Given the description of an element on the screen output the (x, y) to click on. 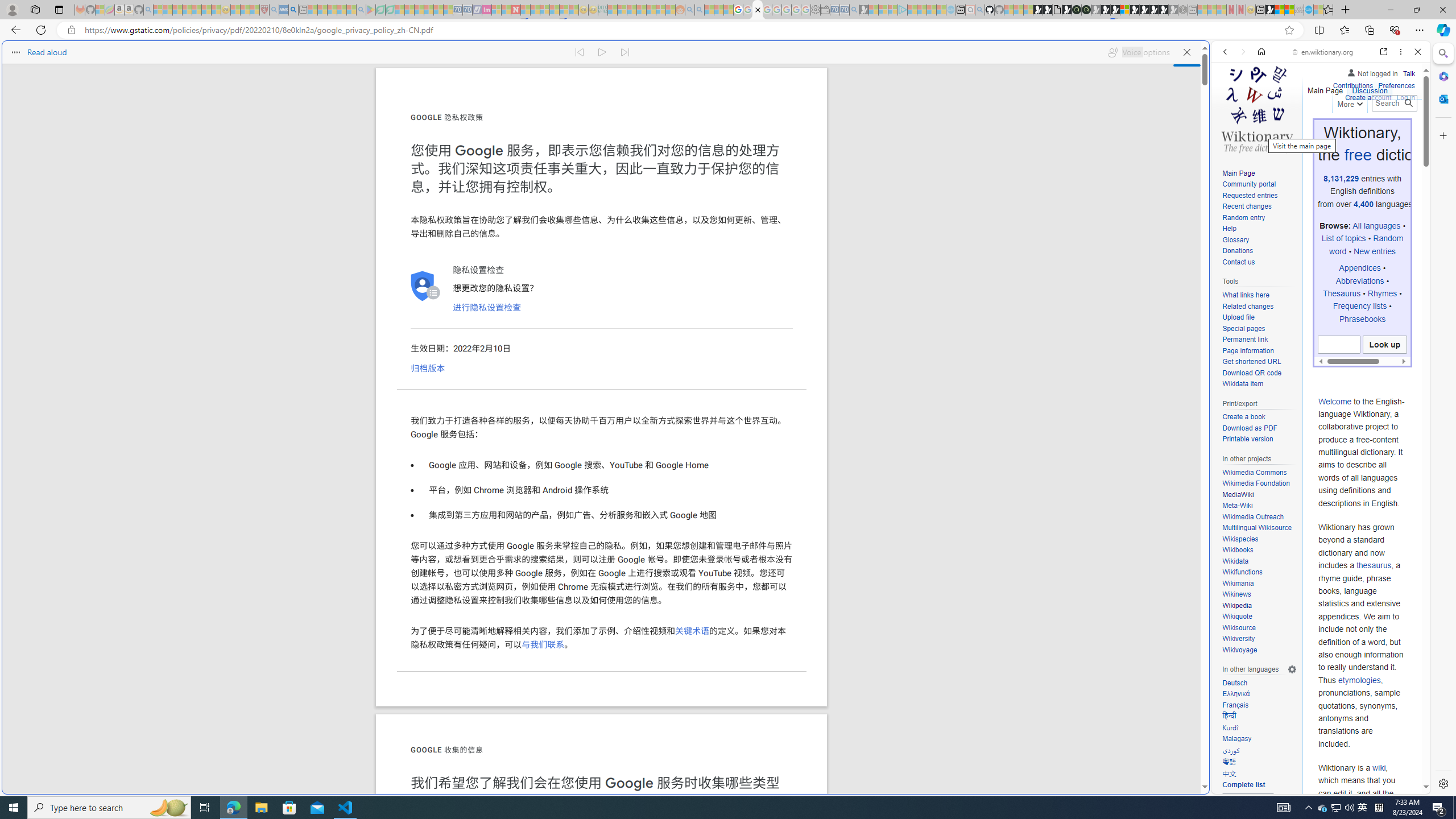
MediaWiki (1237, 494)
Malagasy (1259, 739)
What links here (1245, 295)
Main Page (1238, 172)
Frequency lists (1360, 306)
Wikimania (1259, 583)
Printable version (1259, 439)
